Given the description of an element on the screen output the (x, y) to click on. 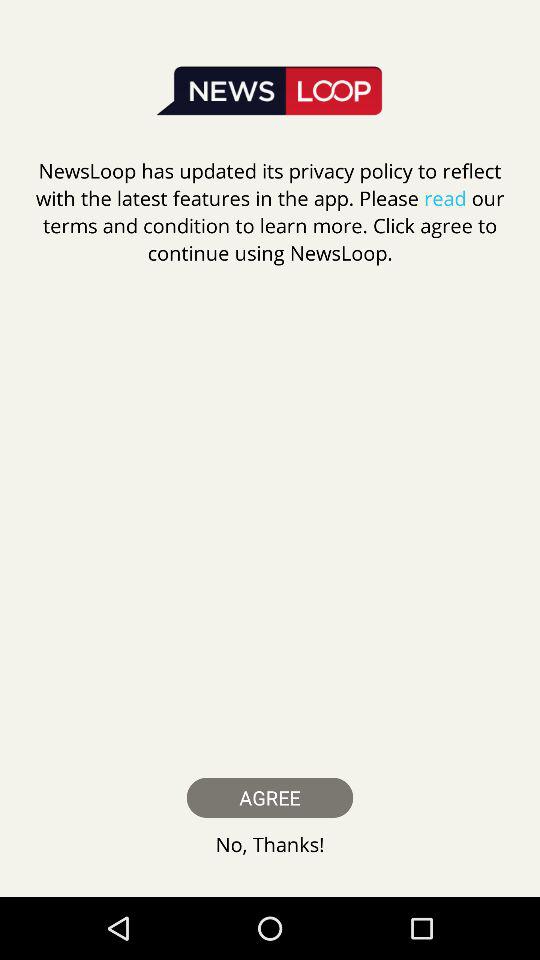
jump until newsloop has updated item (269, 211)
